Given the description of an element on the screen output the (x, y) to click on. 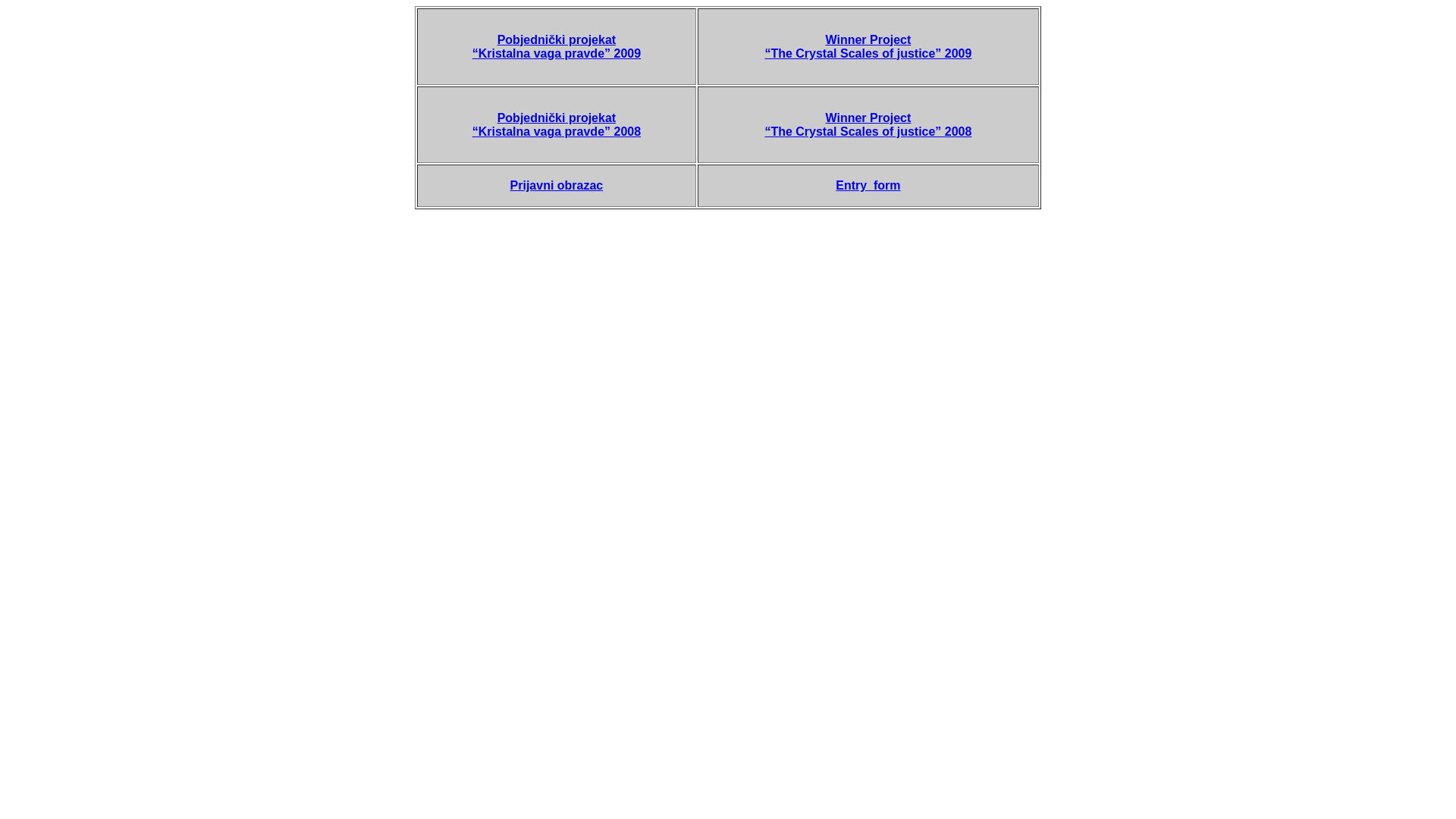
Prijavni obrazac Element type: text (556, 184)
Entry_form Element type: text (867, 184)
